Given the description of an element on the screen output the (x, y) to click on. 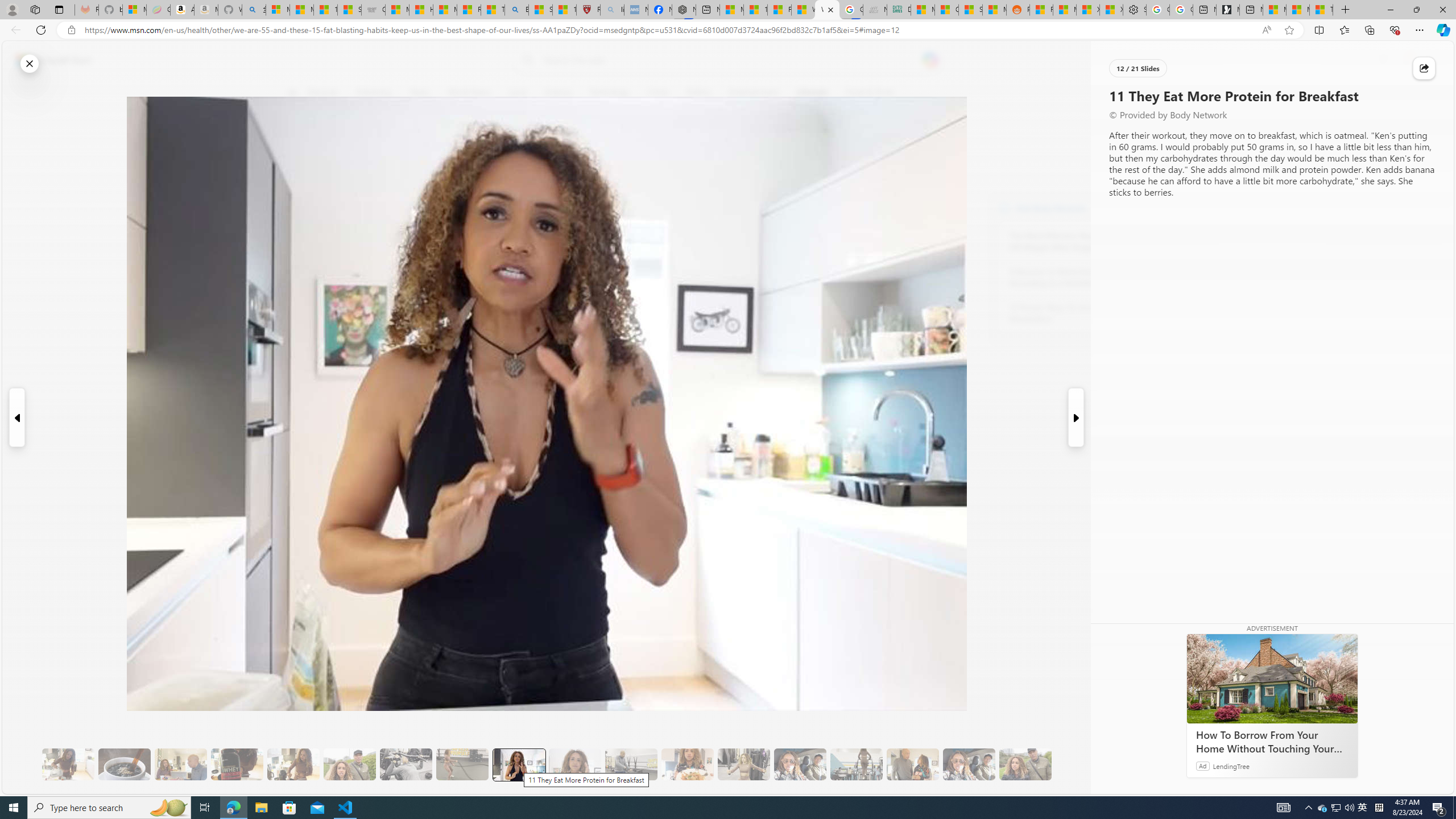
Class: at-item immersive (1423, 68)
Go to publisher's site (830, 146)
14 They Have Salmon and Veggies for Dinner (687, 764)
Follow (518, 146)
Next Slide (1076, 417)
